Given the description of an element on the screen output the (x, y) to click on. 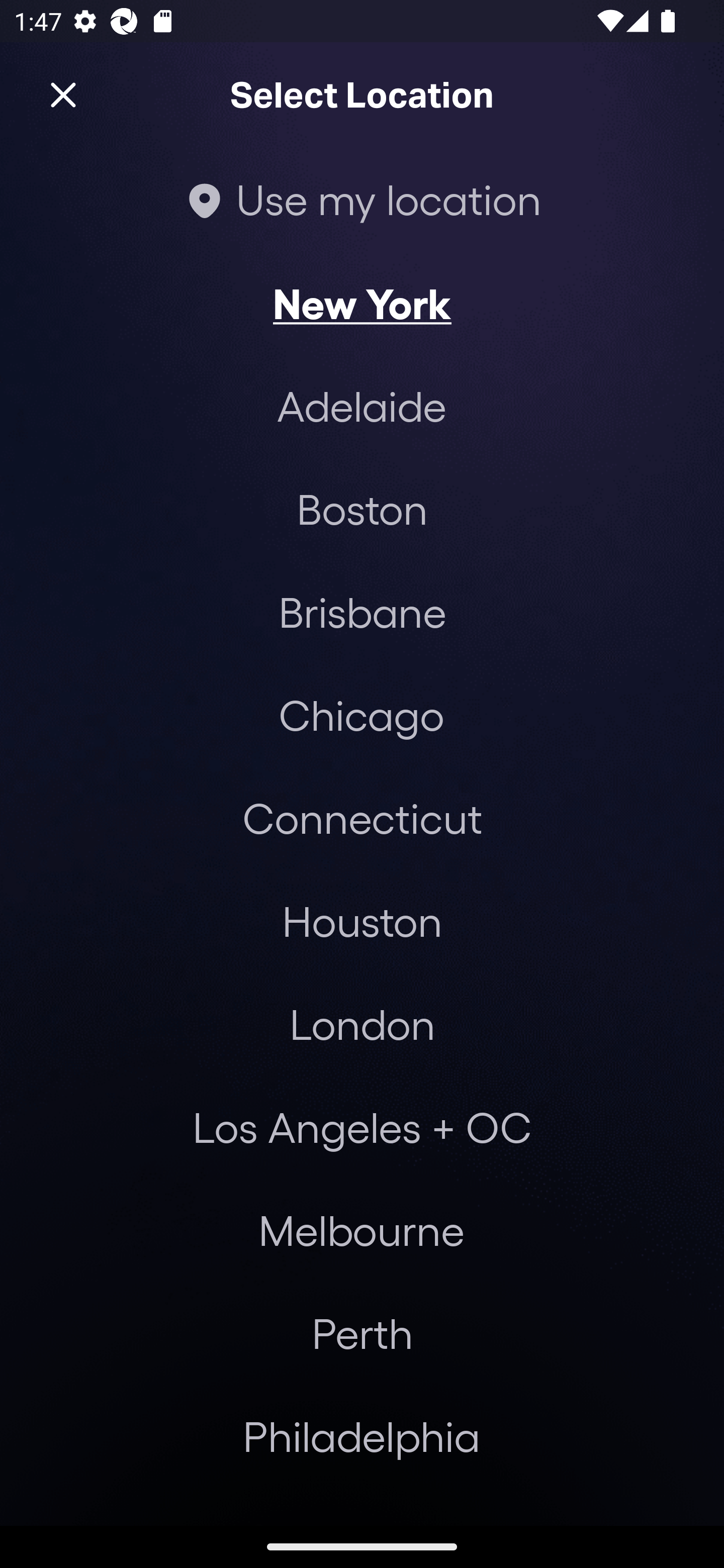
Close (62, 95)
   Use my location (362, 198)
New York (361, 302)
Adelaide (361, 405)
Boston (361, 508)
Brisbane (361, 611)
Chicago (361, 714)
Connecticut (361, 817)
Houston (361, 920)
London (361, 1023)
Los Angeles + OC (361, 1127)
Melbourne (361, 1230)
Perth (361, 1332)
Philadelphia (361, 1436)
